Given the description of an element on the screen output the (x, y) to click on. 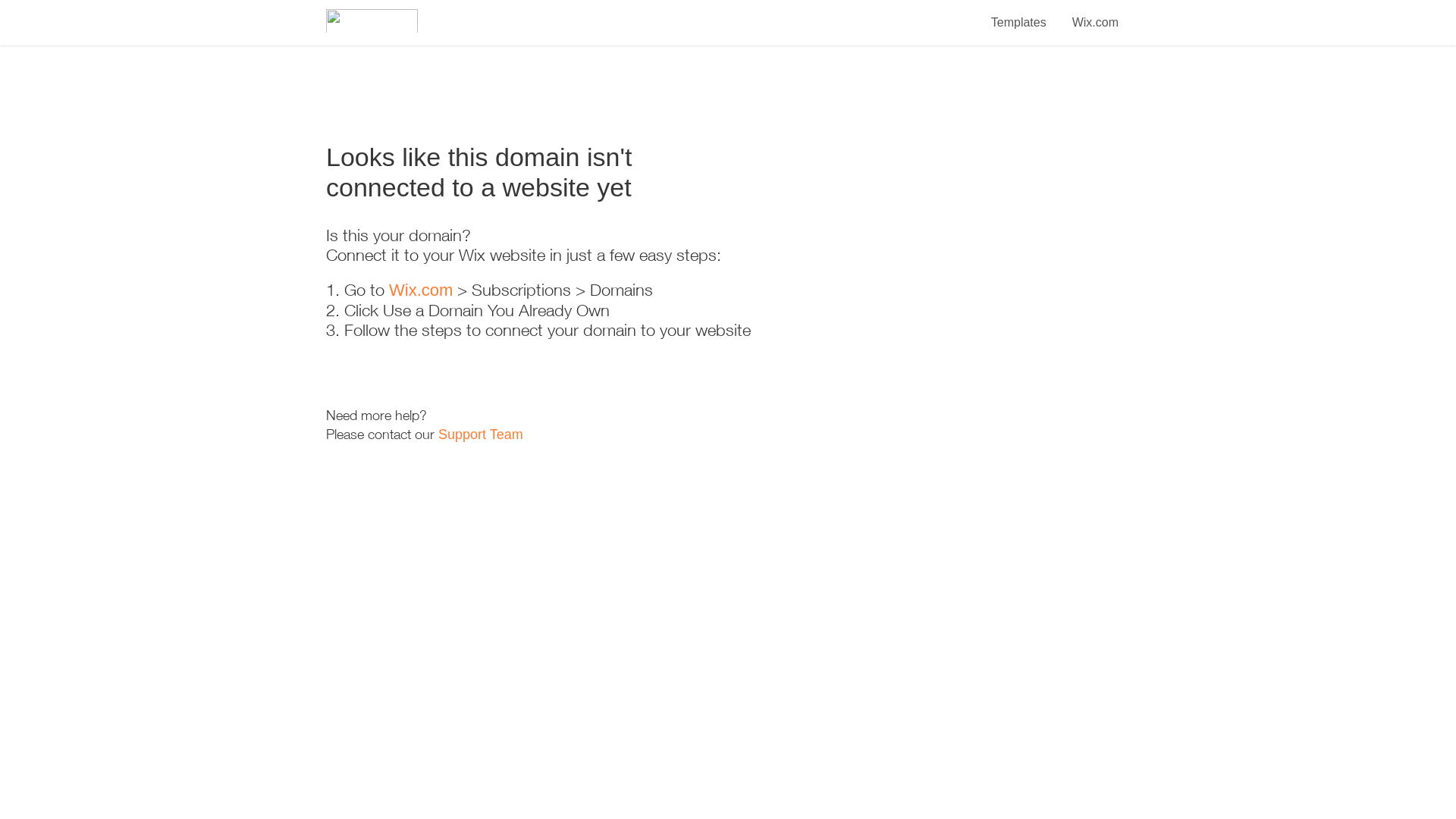
Templates Element type: text (1018, 14)
Wix.com Element type: text (1094, 14)
Wix.com Element type: text (420, 289)
Support Team Element type: text (480, 434)
